Given the description of an element on the screen output the (x, y) to click on. 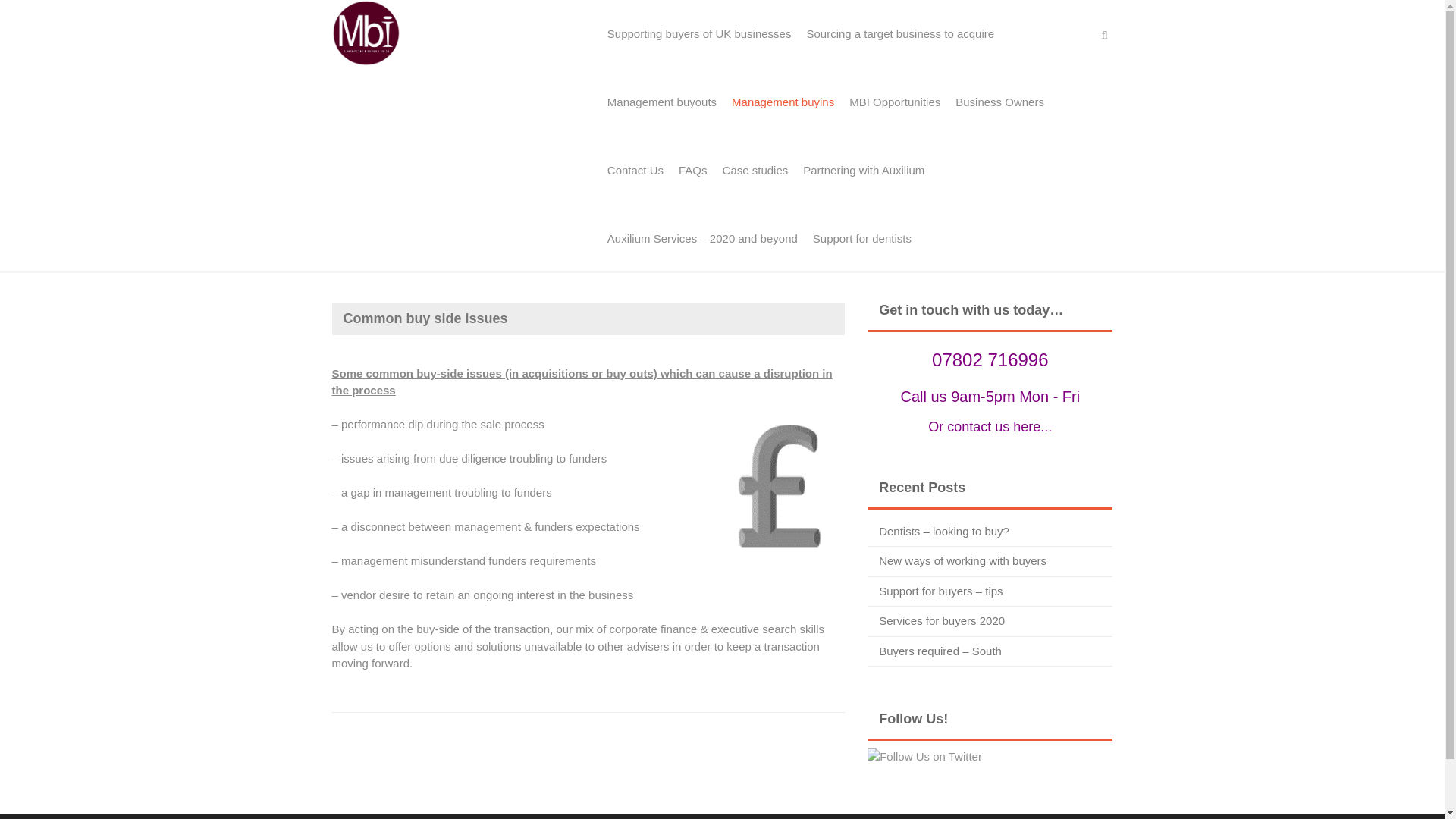
Support for dentists (861, 238)
Sourcing a target business to acquire (899, 33)
New ways of working with buyers (962, 560)
MBI Opportunities (365, 31)
Management buyouts (661, 101)
Follow Us on Twitter (924, 756)
Management buyins (782, 101)
Business Owners (999, 101)
Services for buyers 2020 (941, 620)
MBI Opportunities (894, 101)
